Given the description of an element on the screen output the (x, y) to click on. 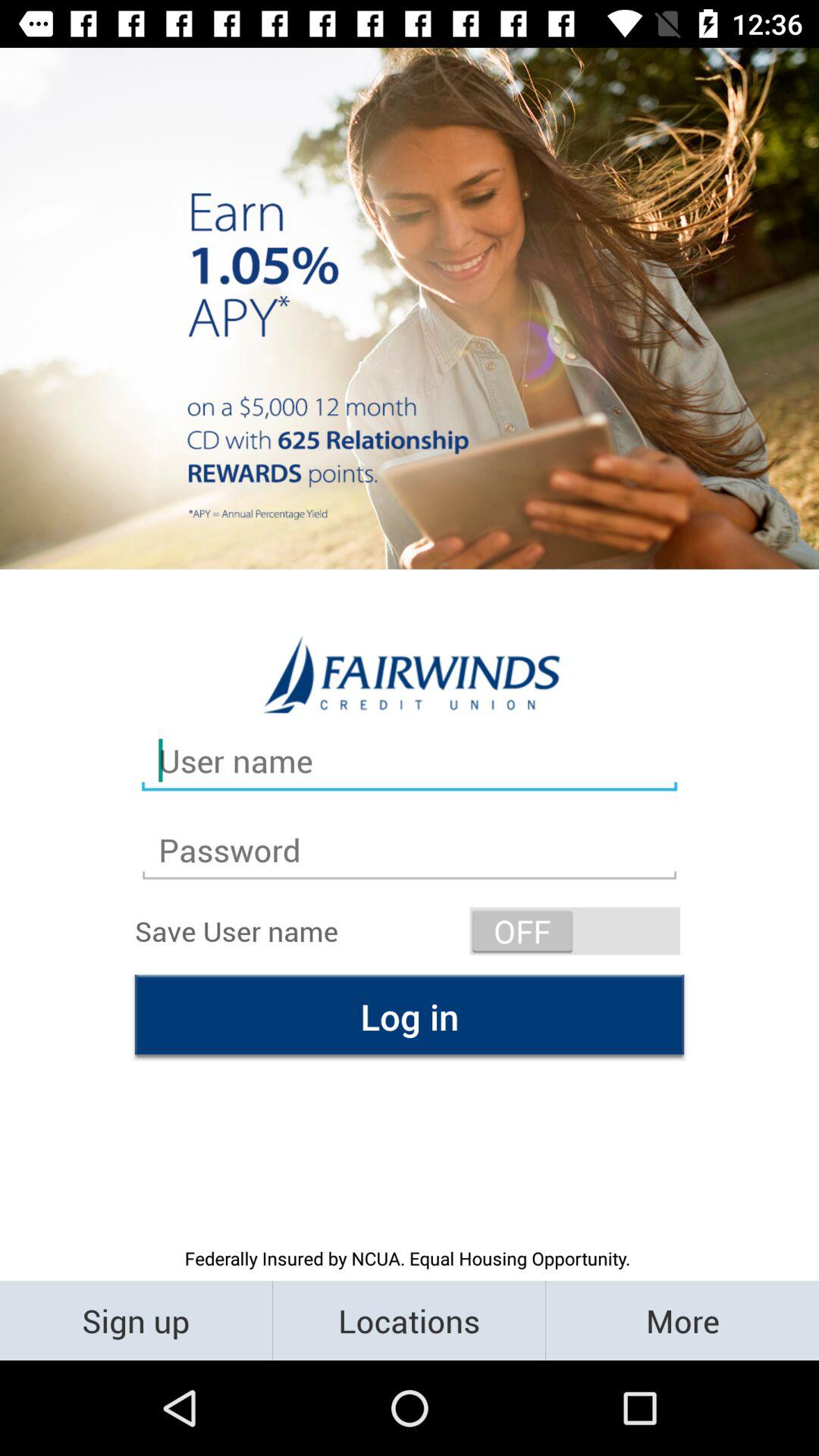
select the button right to the locations (682, 1320)
select a text field with text password on a page (409, 849)
select the switch button off (574, 930)
go to the text before password (409, 761)
